Given the description of an element on the screen output the (x, y) to click on. 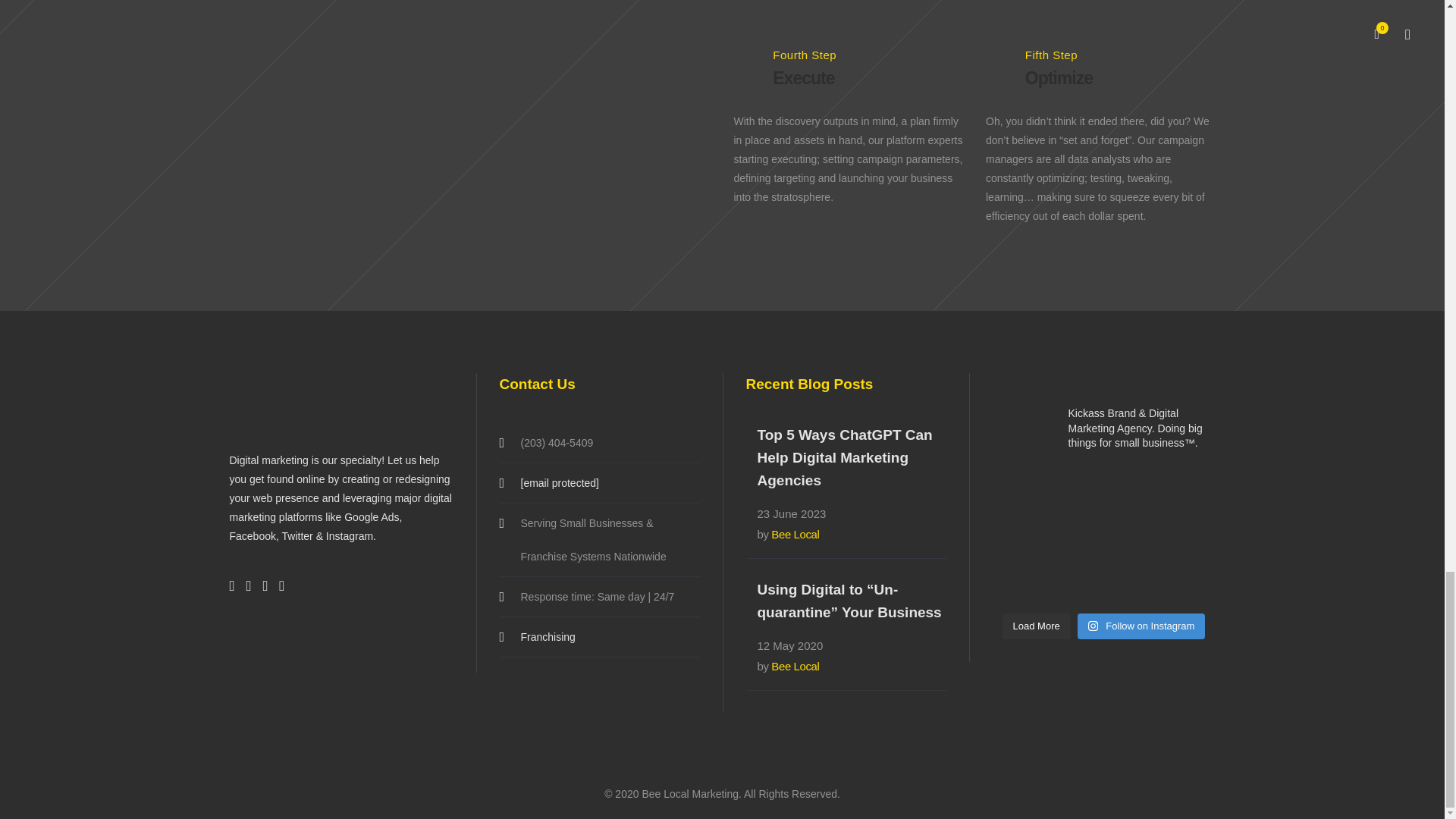
Bee Local (794, 666)
Franchising (598, 636)
Top 5 Ways ChatGPT Can Help Digital Marketing Agencies (844, 457)
Bee Local (794, 533)
